Given the description of an element on the screen output the (x, y) to click on. 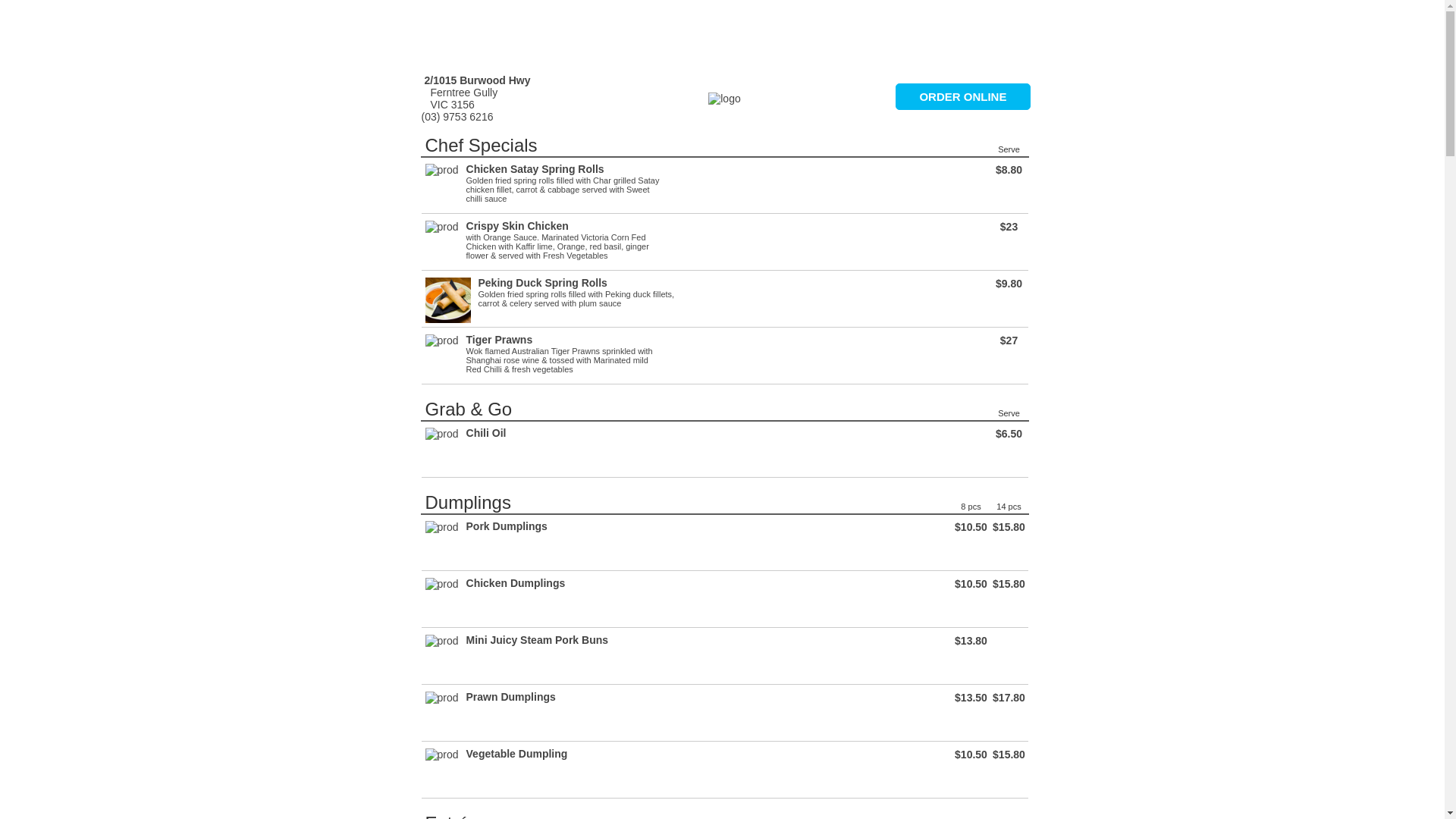
Dumplings Element type: text (467, 502)
ORDER ONLINE Element type: text (962, 96)
Grab & Go Element type: text (467, 408)
Chef Specials Element type: text (480, 144)
